Given the description of an element on the screen output the (x, y) to click on. 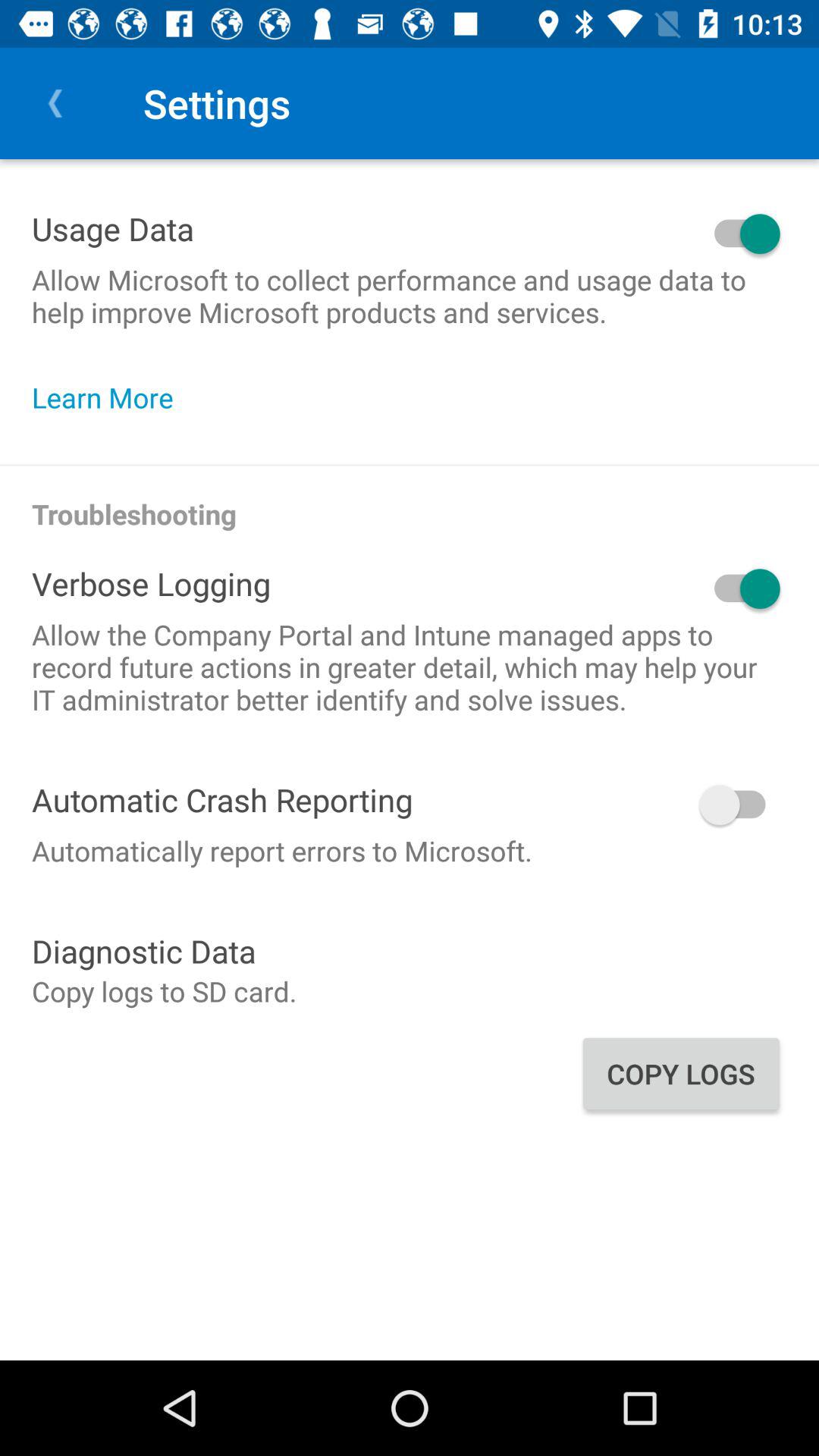
flip to learn more (110, 397)
